Given the description of an element on the screen output the (x, y) to click on. 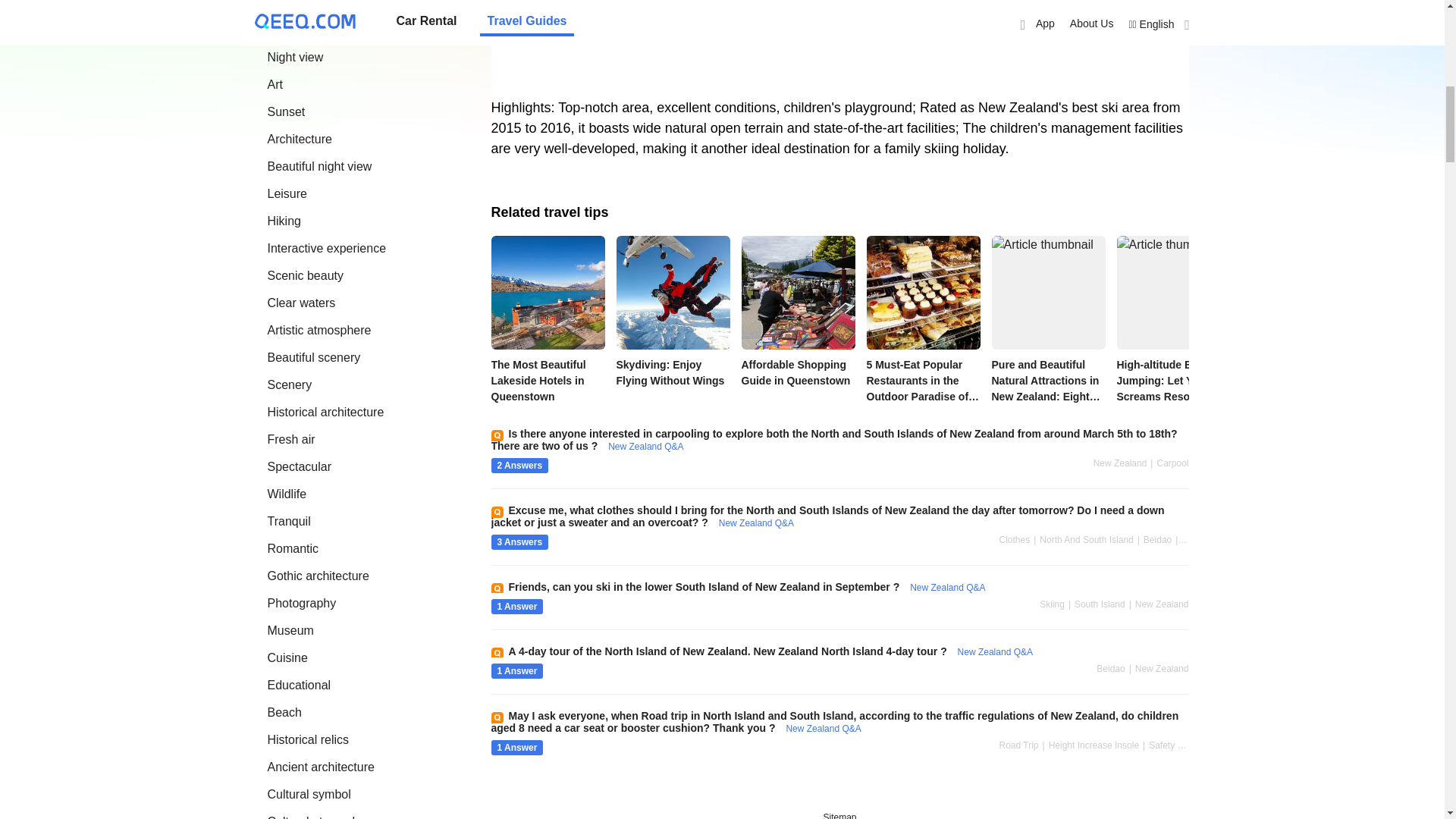
Majestic travel guides (288, 4)
Artistic atmosphere (318, 329)
Majestic (288, 4)
Hiking (282, 220)
Clear waters (300, 302)
Leisure (285, 193)
Beautiful night view (318, 165)
Night view travel guides (294, 56)
Architecture (298, 138)
Night view (294, 56)
